Given the description of an element on the screen output the (x, y) to click on. 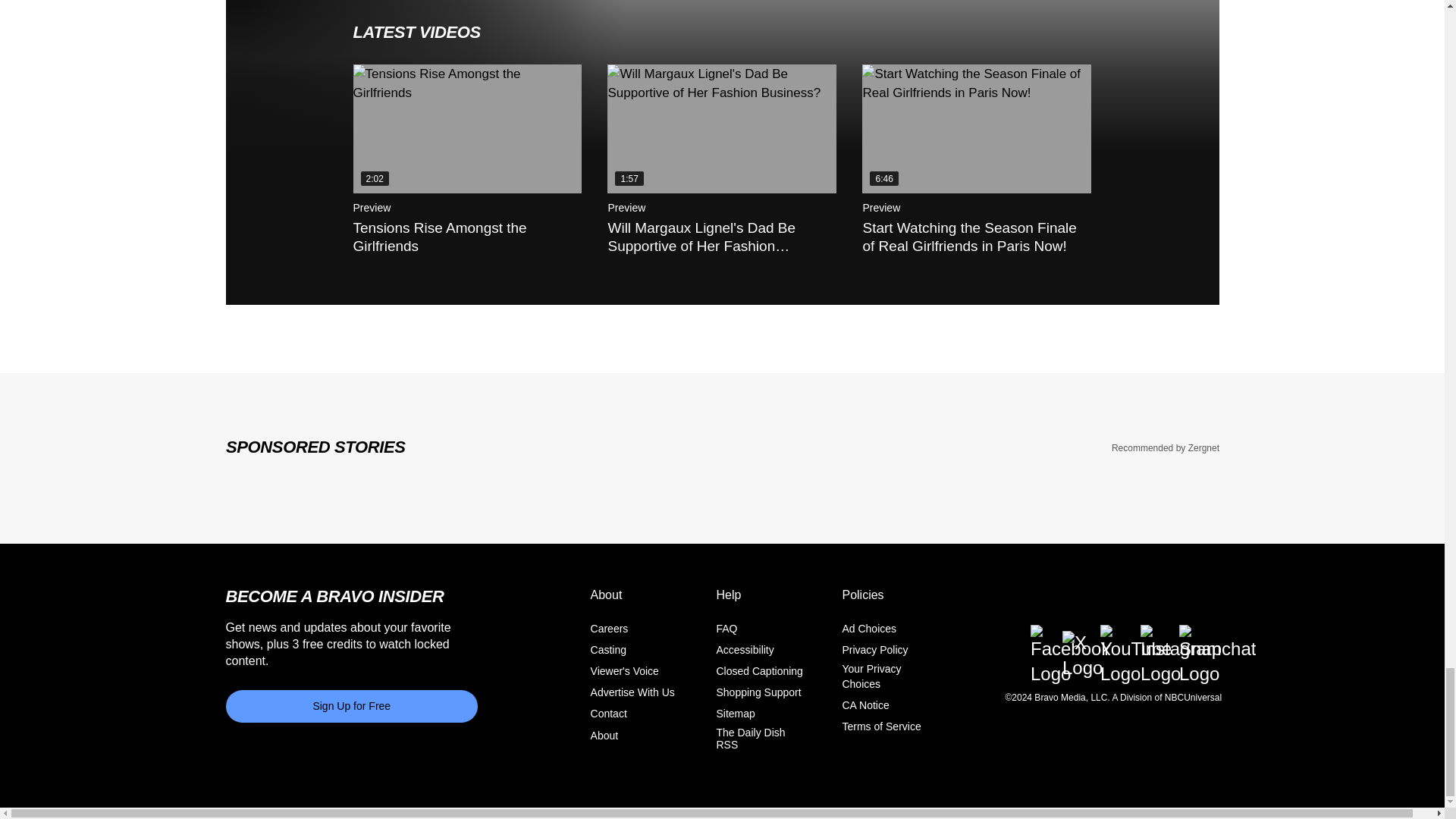
Tensions Rise Amongst the Girlfriends (467, 128)
